Given the description of an element on the screen output the (x, y) to click on. 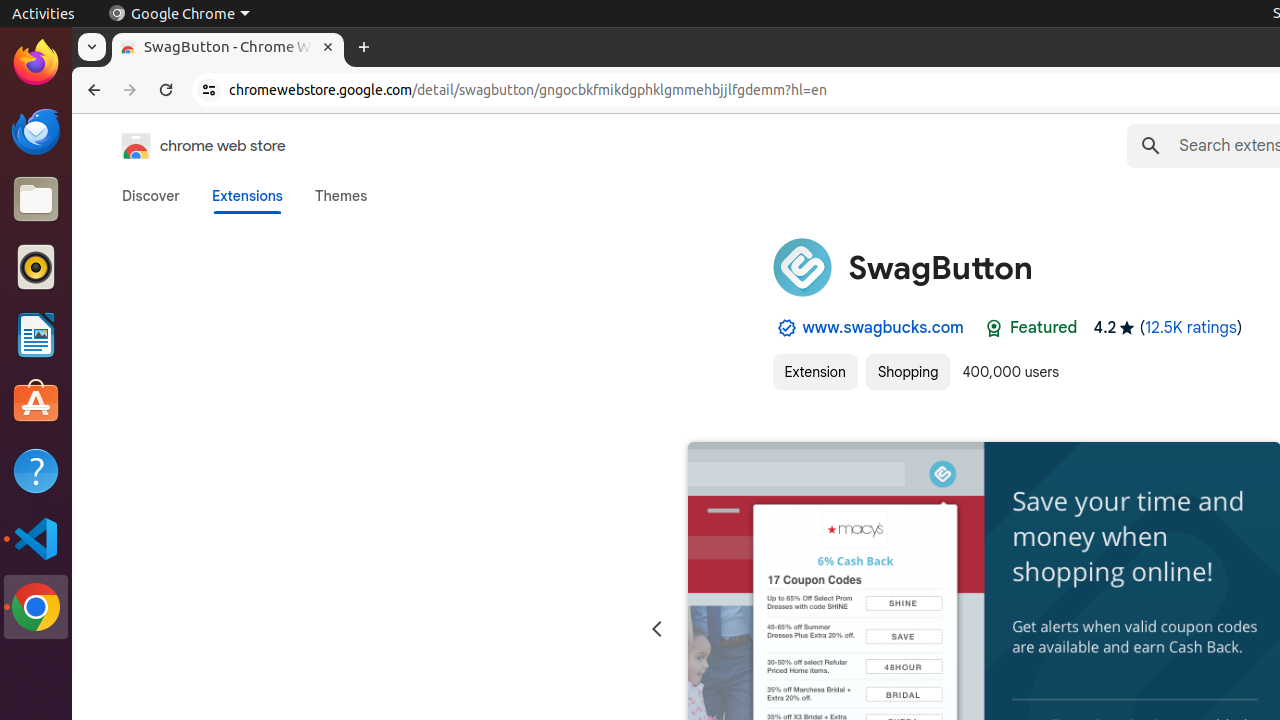
Extension Element type: link (815, 372)
